Given the description of an element on the screen output the (x, y) to click on. 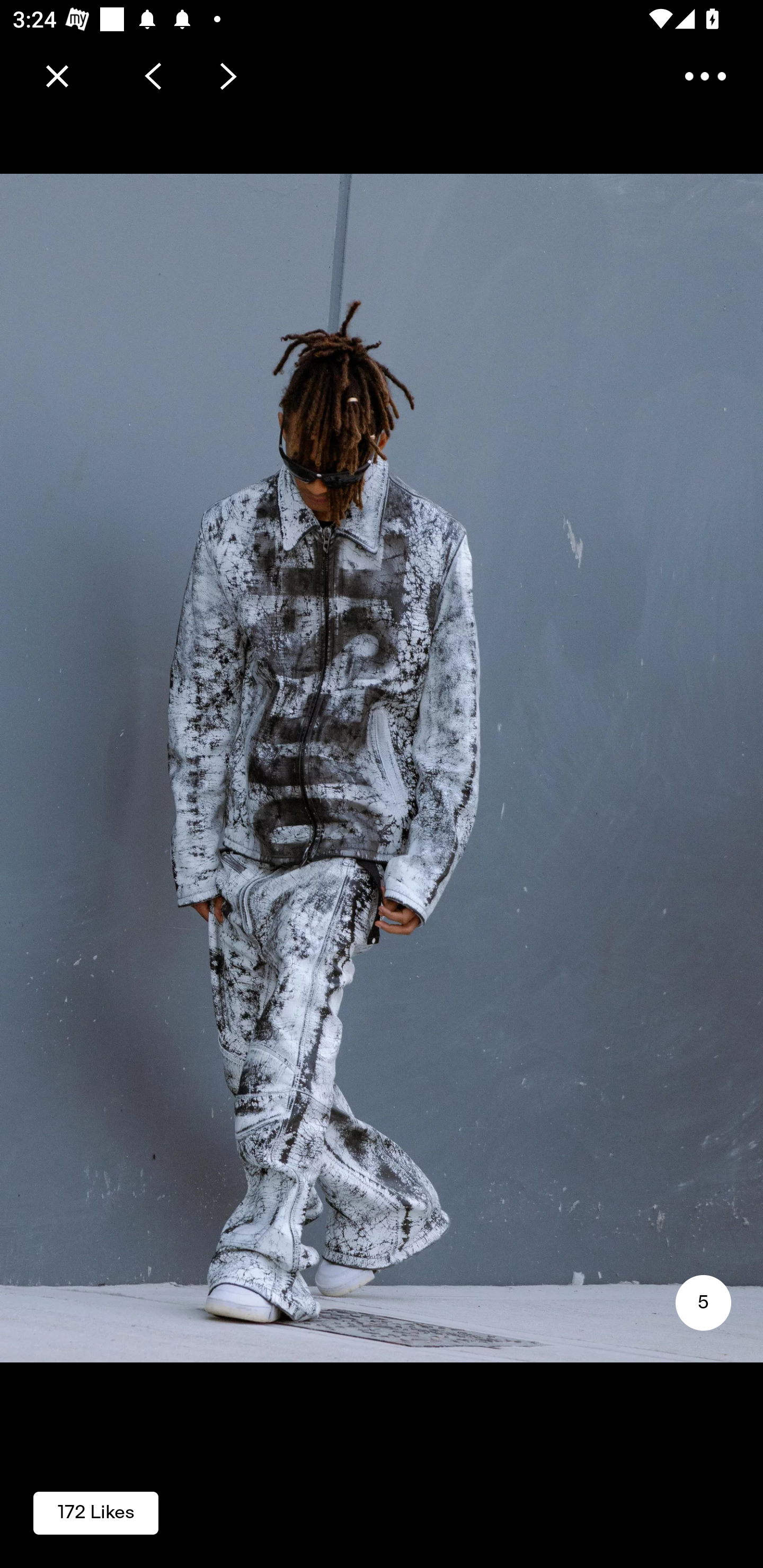
5 (702, 1302)
172 Likes (96, 1512)
